Given the description of an element on the screen output the (x, y) to click on. 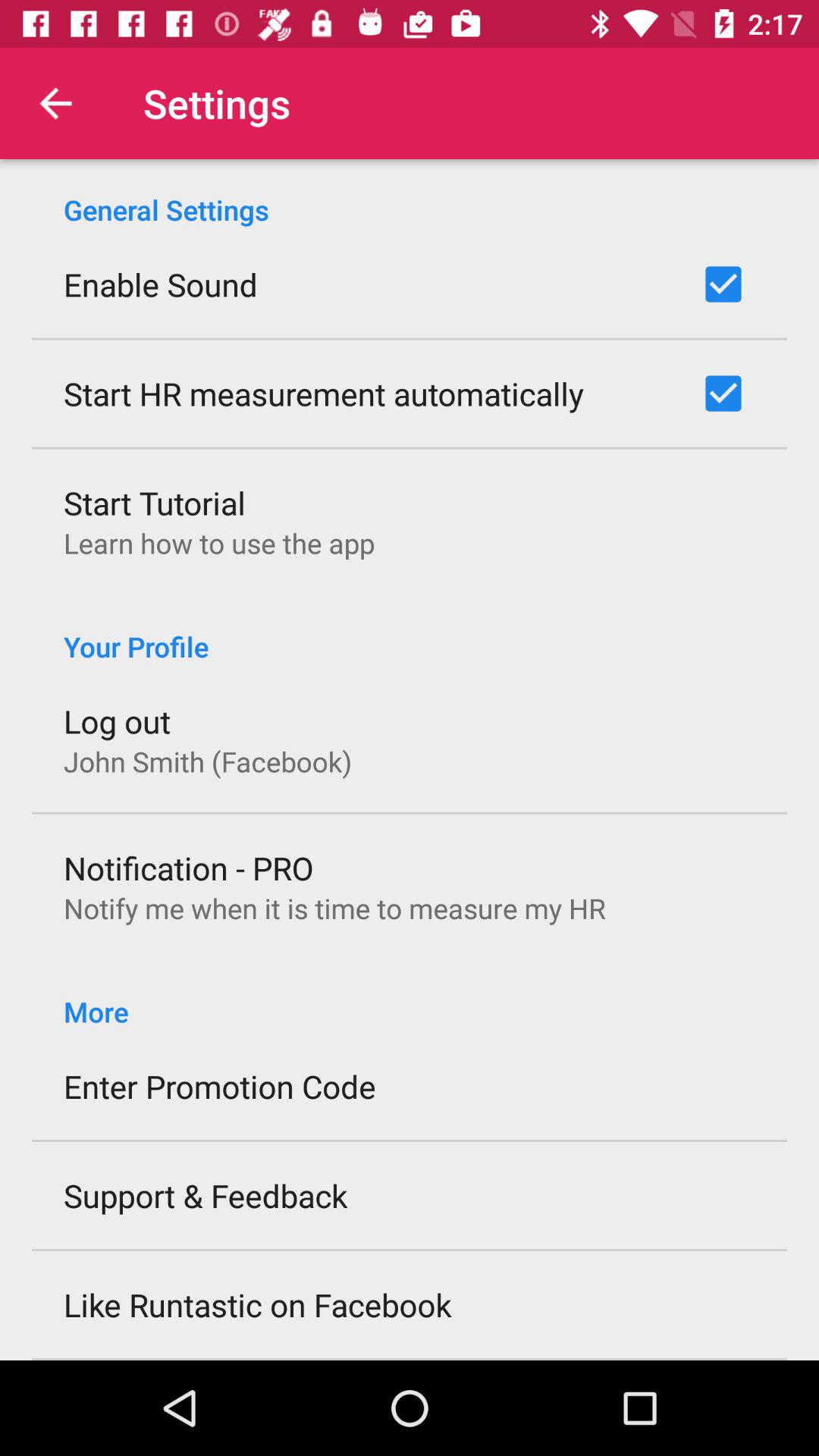
click icon below general settings (160, 283)
